Given the description of an element on the screen output the (x, y) to click on. 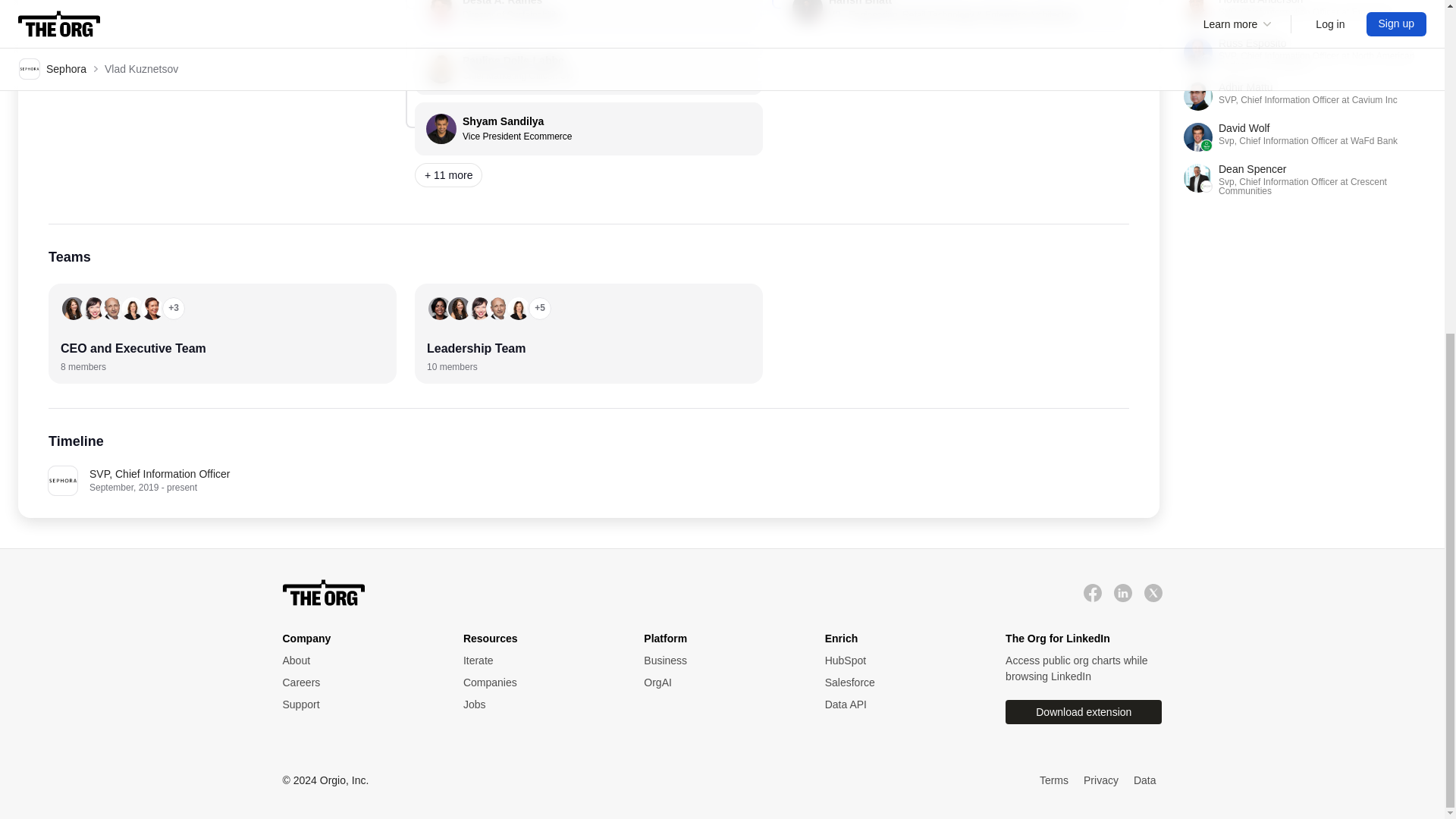
Companies (537, 682)
Iterate (537, 660)
Support (357, 704)
Salesforce (588, 128)
About (900, 682)
HubSpot (357, 660)
Iterate (900, 660)
The Org logo (537, 660)
Jobs (323, 592)
Support (537, 704)
About (588, 68)
